Given the description of an element on the screen output the (x, y) to click on. 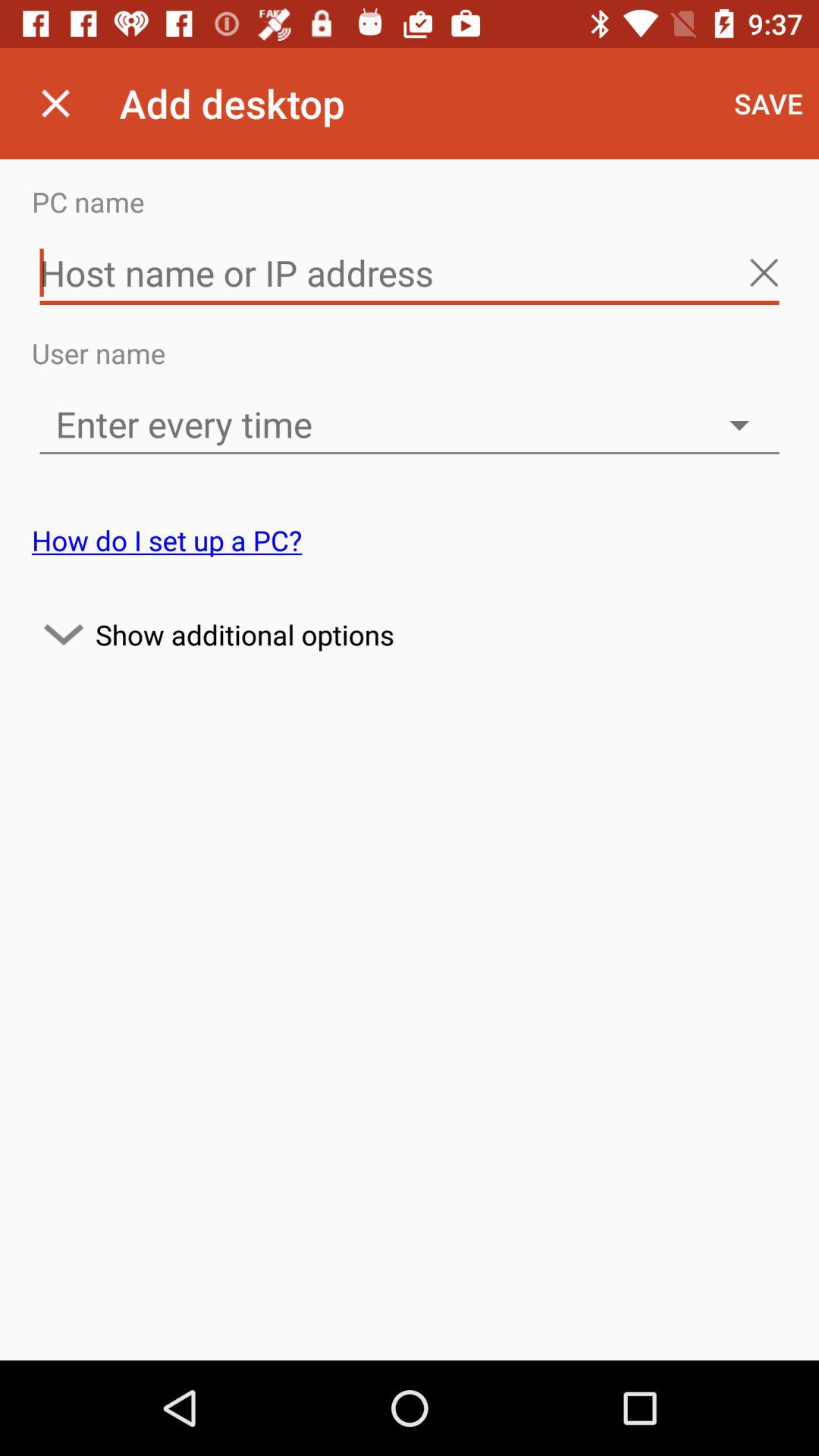
press item to the right of add desktop (768, 103)
